Given the description of an element on the screen output the (x, y) to click on. 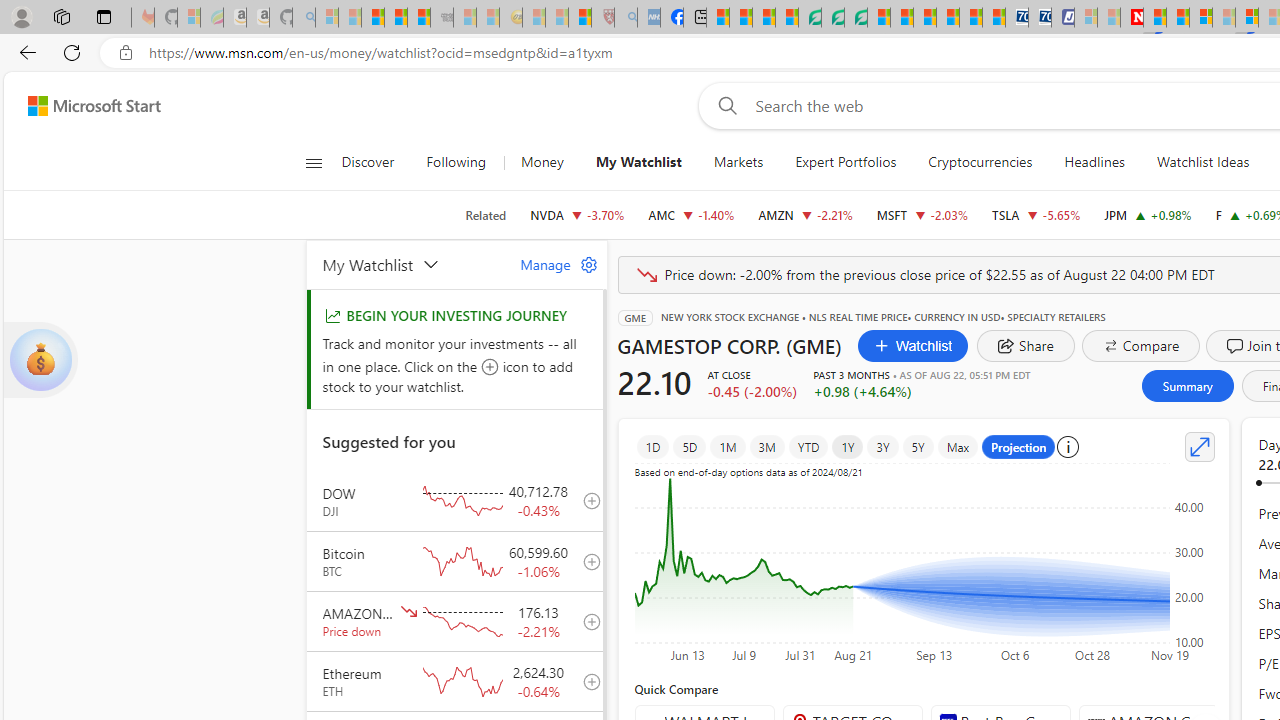
Projection (1018, 446)
1M (728, 446)
Summary (1186, 385)
5D (689, 446)
Headlines (1094, 162)
Expert Portfolios (845, 162)
share dialog (1025, 345)
Expert Portfolios (845, 162)
Compare (1140, 345)
